Given the description of an element on the screen output the (x, y) to click on. 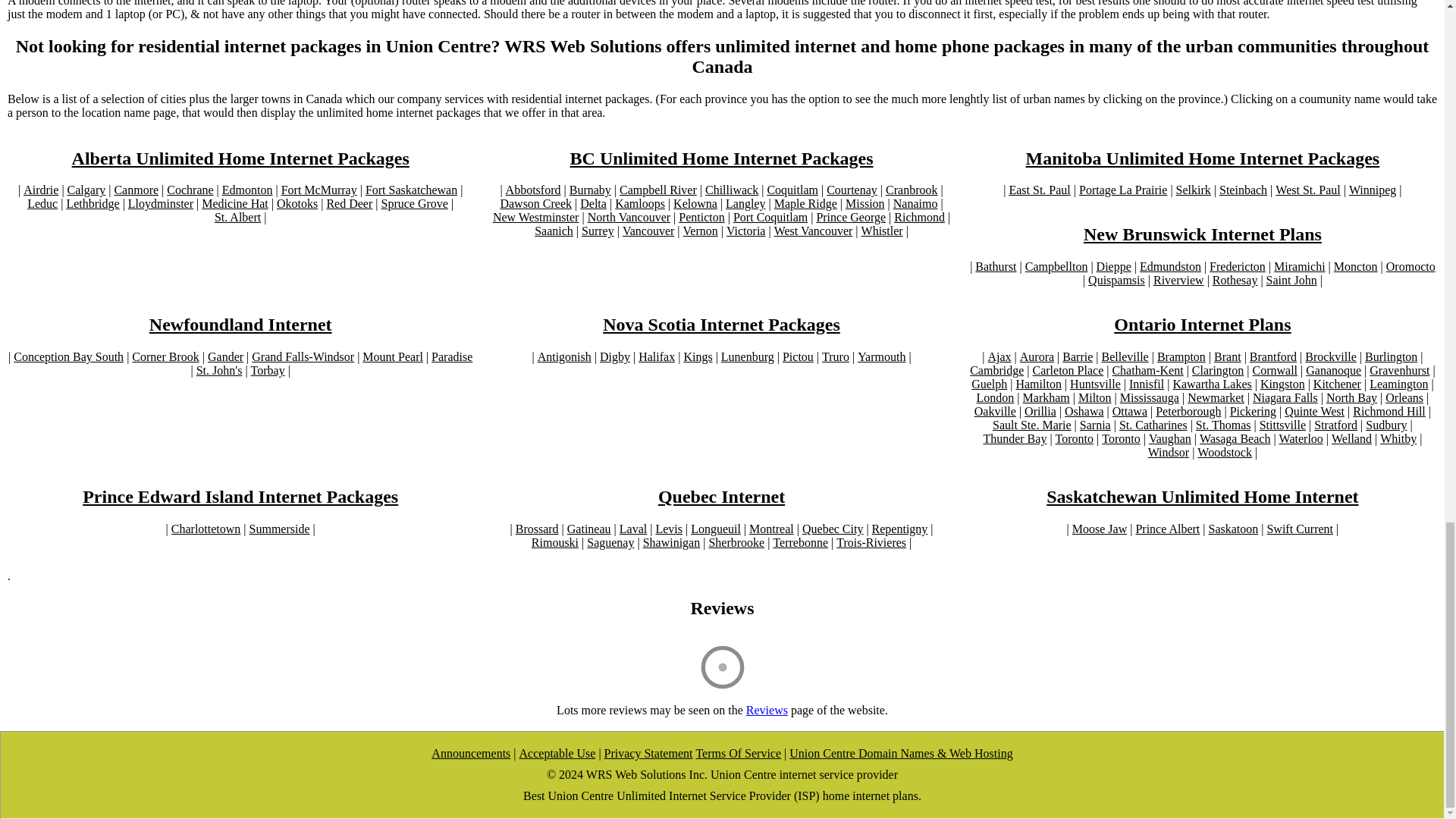
Canmore (135, 190)
Fort Saskatchewan (411, 190)
Lloydminster (160, 203)
BC Unlimited Home Internet Packages (721, 158)
Calgary (86, 190)
Chilliwack (731, 190)
Medicine Hat (234, 203)
Cochrane (189, 190)
Alberta Unlimited Home Internet Packages (240, 158)
Red Deer (349, 203)
